Given the description of an element on the screen output the (x, y) to click on. 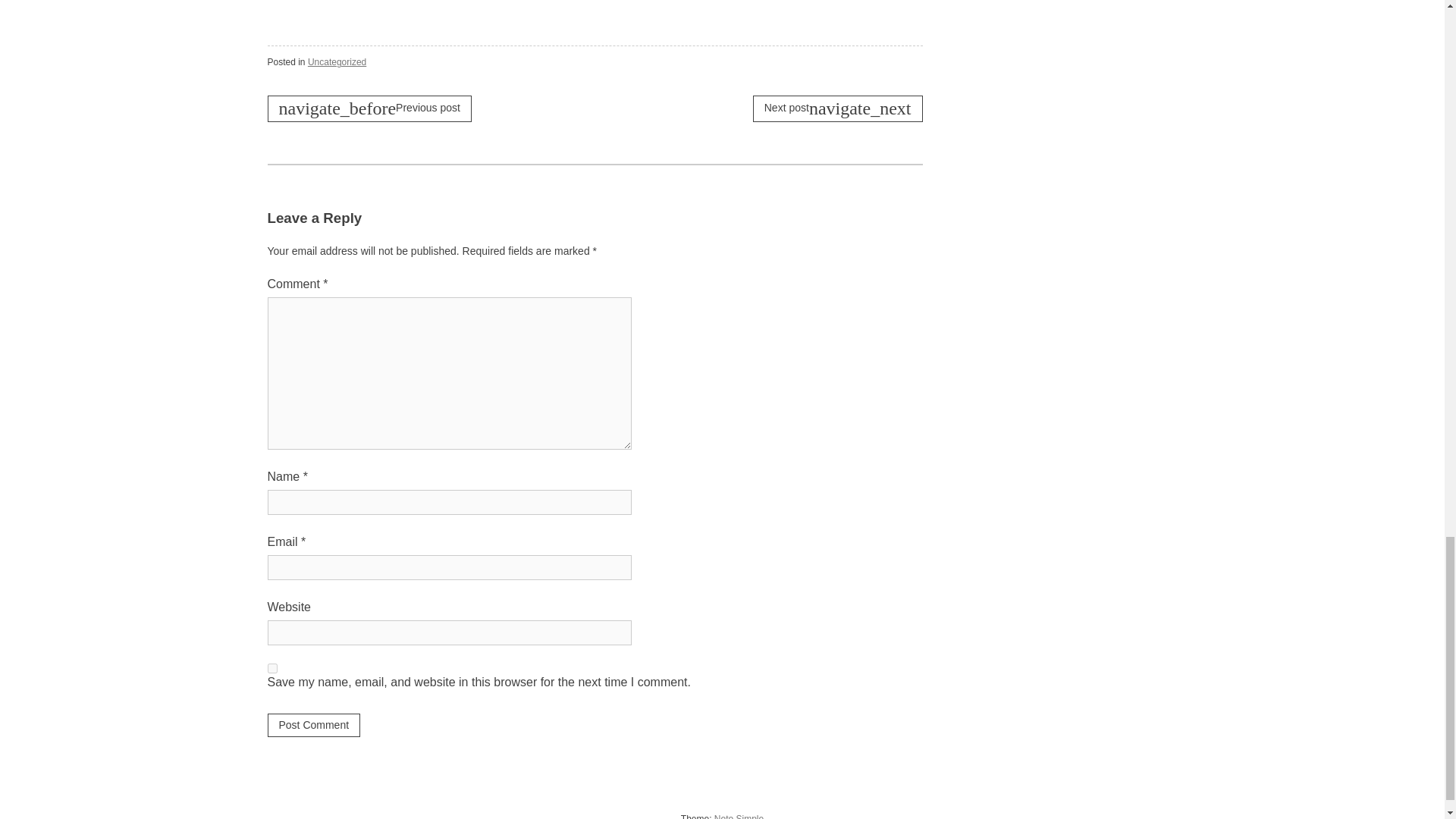
Post Comment (312, 725)
yes (271, 668)
Uncategorized (336, 61)
Post Comment (312, 725)
Noto Simple (738, 816)
